Given the description of an element on the screen output the (x, y) to click on. 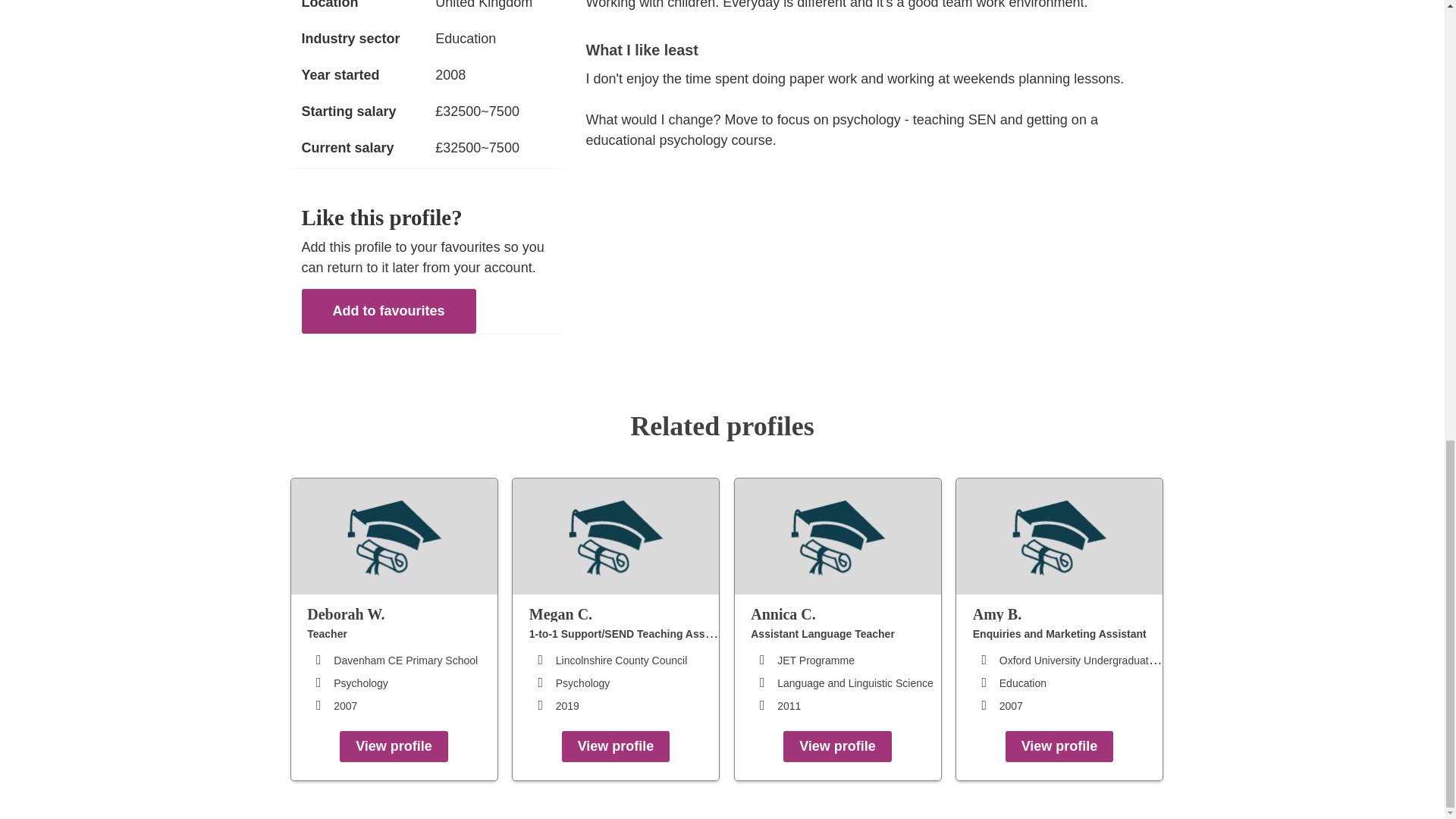
View profile (1059, 746)
Psychology (360, 683)
2007 (344, 705)
Teacher (327, 633)
View profile (837, 746)
Lincolnshire County Council (621, 660)
View profile (615, 746)
Davenham CE Primary School (405, 660)
Megan C. (624, 612)
2019 (567, 705)
Deborah W. (401, 612)
View profile (393, 746)
Annica C. (845, 612)
Psychology (583, 683)
